Given the description of an element on the screen output the (x, y) to click on. 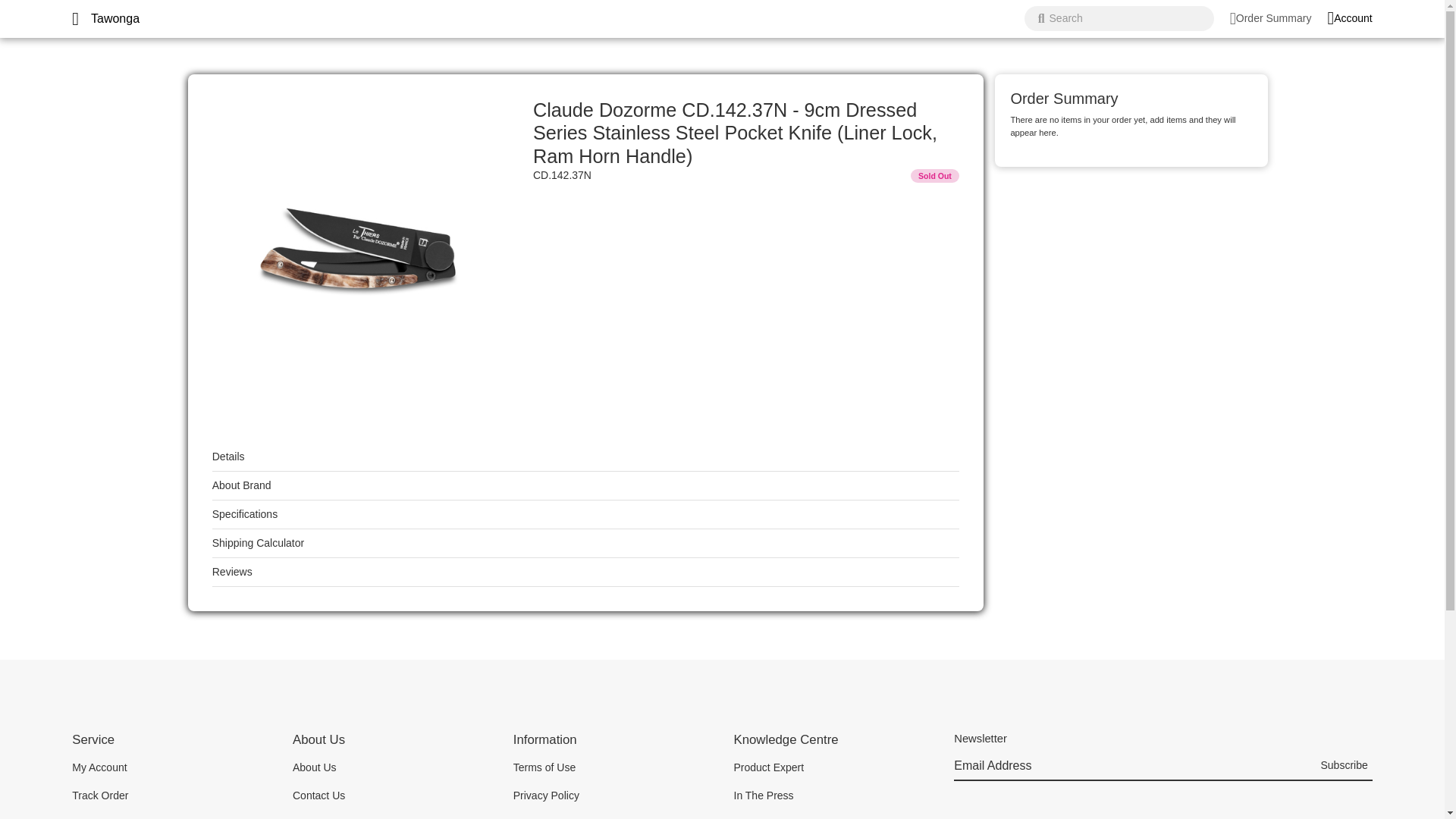
Order Summary (1271, 18)
Account (1348, 18)
Tawonga (114, 18)
Subscribe (1343, 766)
